Given the description of an element on the screen output the (x, y) to click on. 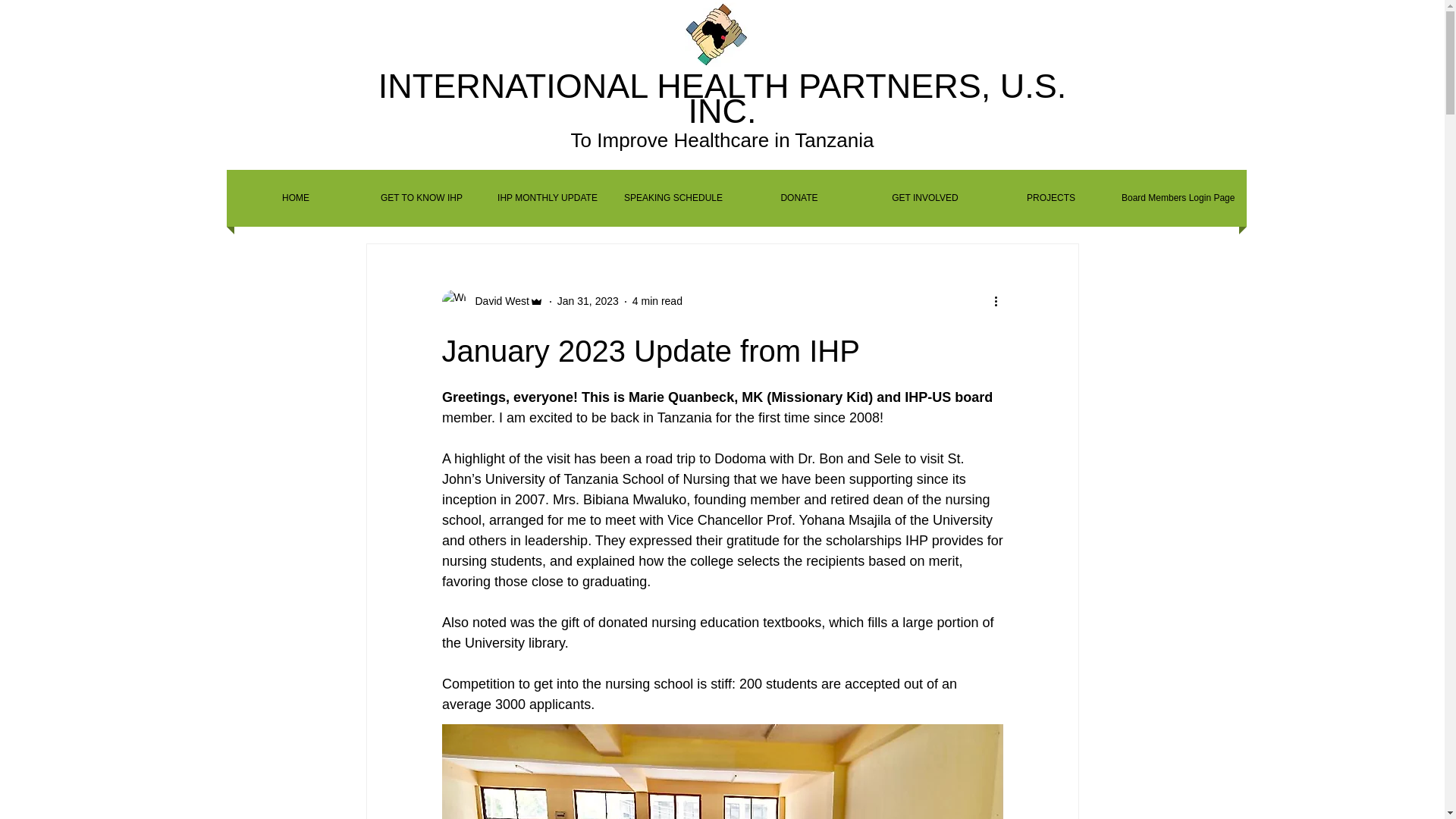
GET TO KNOW IHP (421, 197)
PROJECTS (1050, 197)
SPEAKING SCHEDULE (673, 197)
Board Members Login Page (1176, 197)
Jan 31, 2023 (587, 300)
GET INVOLVED (924, 197)
DONATE (798, 197)
IHP MONTHLY UPDATE (547, 197)
4 min read (656, 300)
HOME (295, 197)
